Given the description of an element on the screen output the (x, y) to click on. 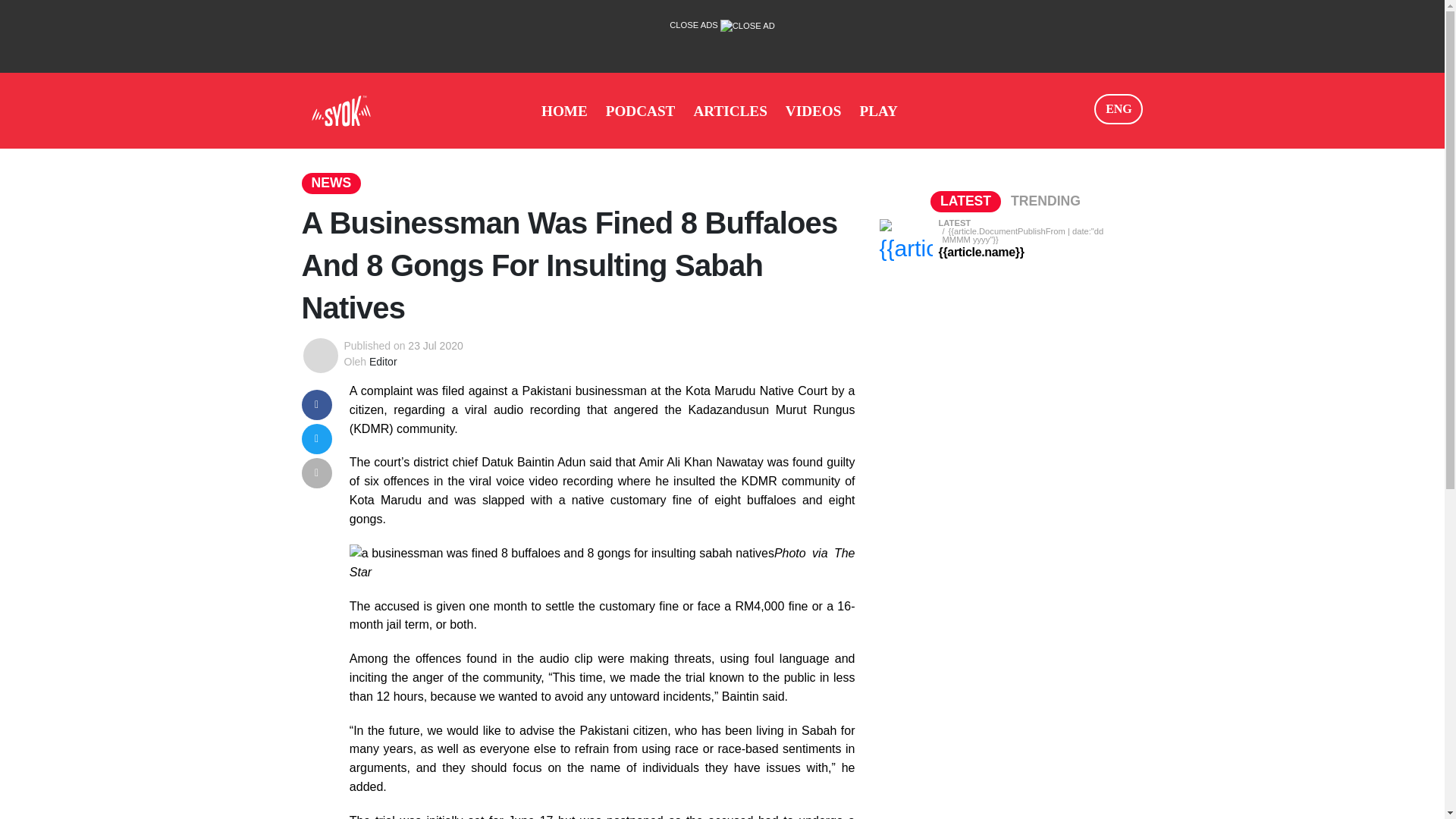
HOME (564, 110)
Tweet (316, 437)
VIDEOS (813, 110)
ARTICLES (730, 110)
PODCAST (640, 110)
Share on Facebook (316, 403)
ENG (1118, 109)
PLAY (877, 110)
